Given the description of an element on the screen output the (x, y) to click on. 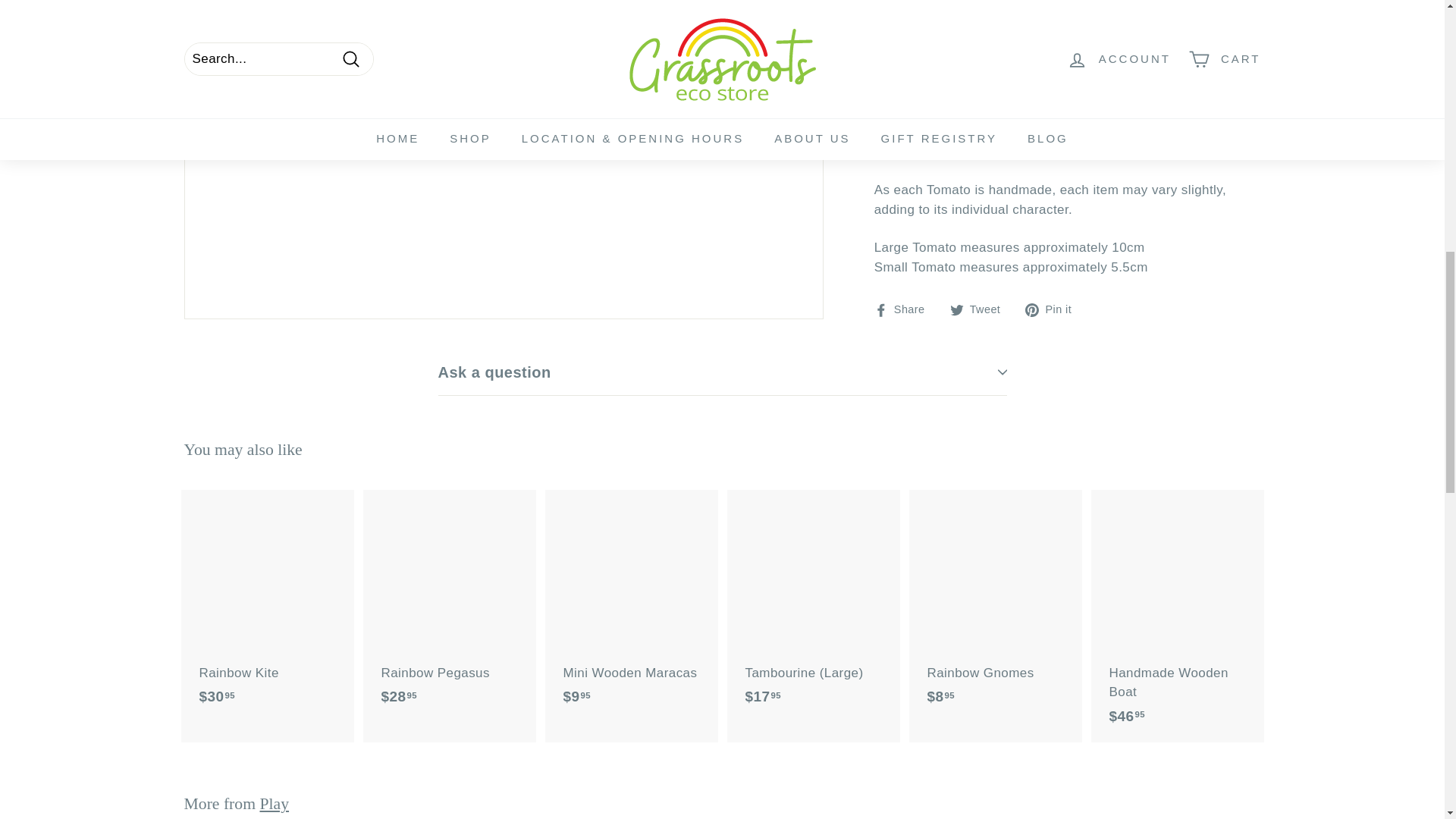
Share on Facebook (905, 309)
Tweet on Twitter (980, 309)
Pin on Pinterest (1054, 309)
